Given the description of an element on the screen output the (x, y) to click on. 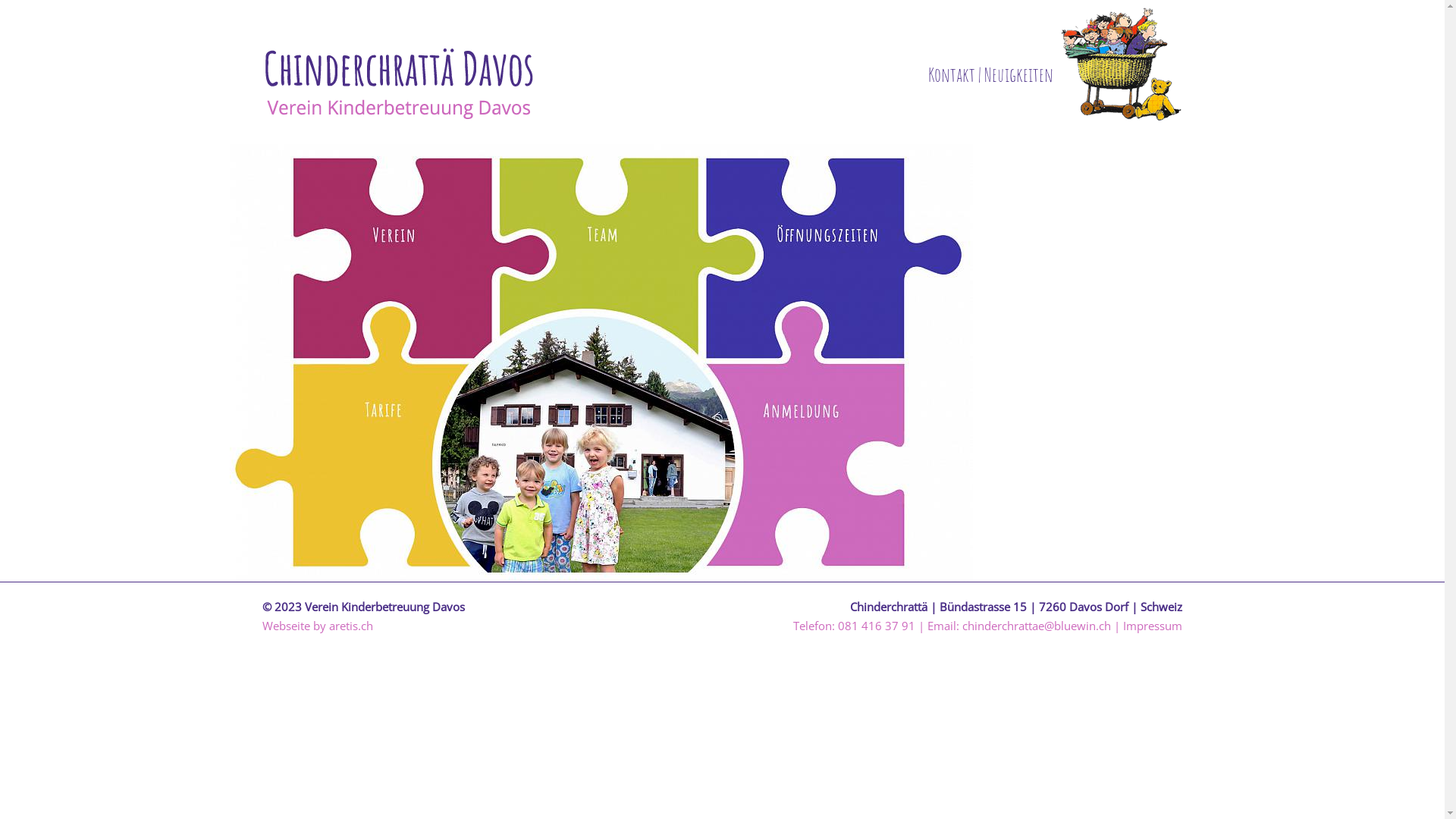
aretis.ch Element type: text (351, 625)
Impressum Element type: text (1152, 625)
Tarife Element type: hover (445, 463)
Verein Element type: hover (445, 255)
081 416 37 91 Element type: text (876, 625)
Team Element type: hover (718, 255)
Kontakt Element type: text (951, 74)
Anmeldung Element type: hover (990, 463)
Neuigkeiten Element type: text (1018, 74)
chinderchrattae@bluewin.ch Element type: text (1036, 625)
Home Element type: hover (718, 463)
